Given the description of an element on the screen output the (x, y) to click on. 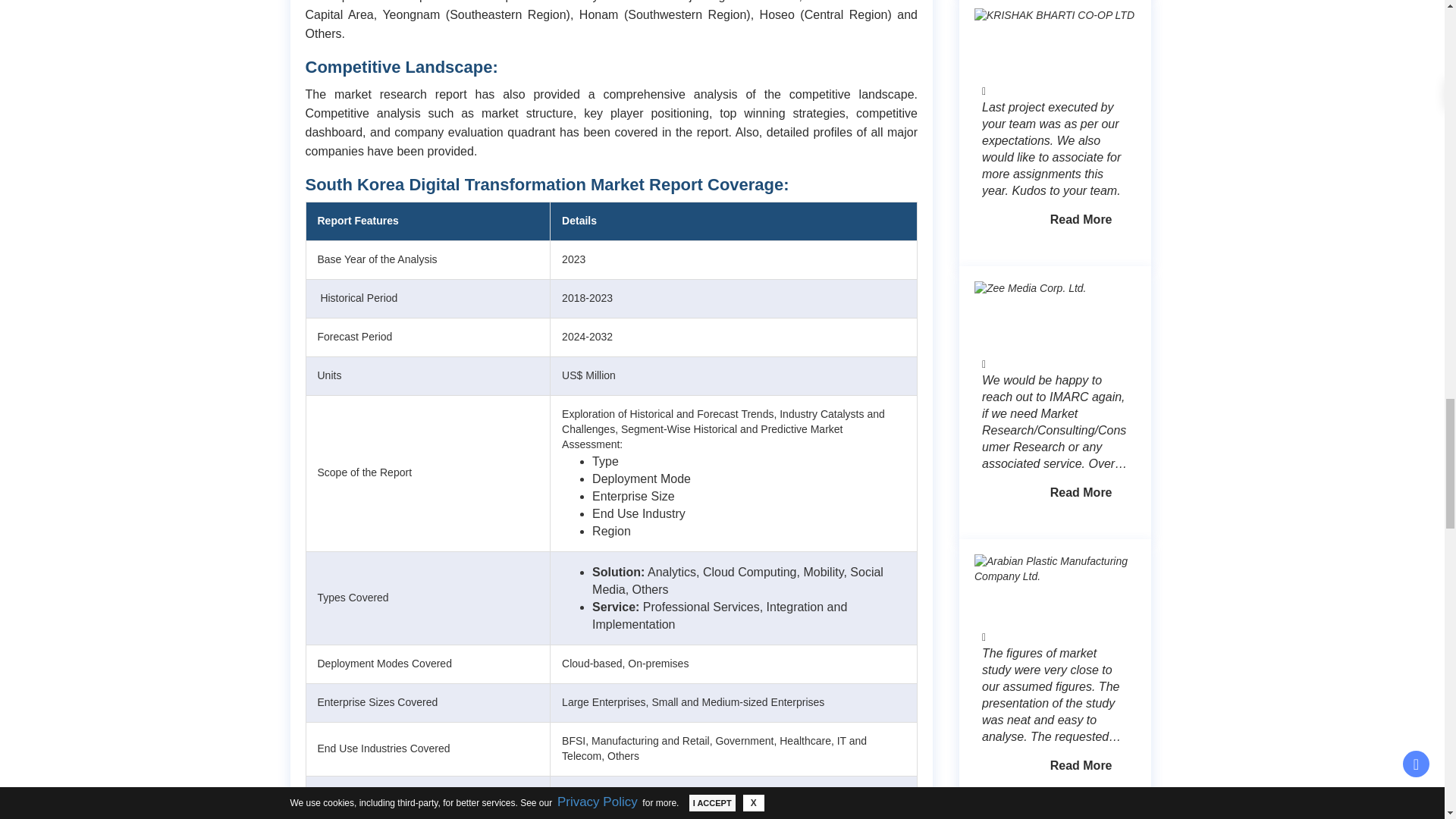
Know more (1081, 220)
Know more (1081, 492)
Know more (1081, 765)
